Given the description of an element on the screen output the (x, y) to click on. 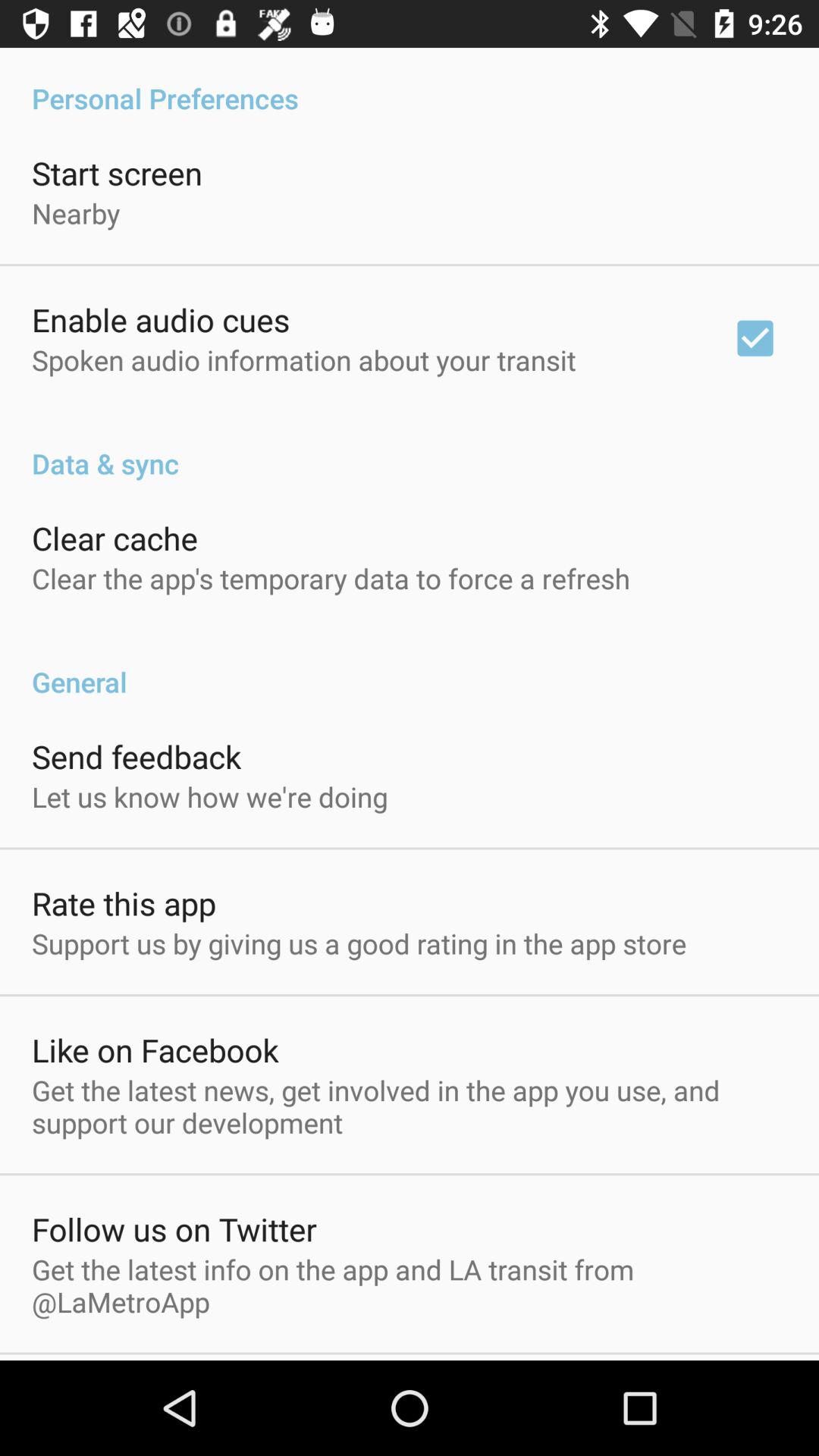
launch app below the get the latest icon (173, 1228)
